Given the description of an element on the screen output the (x, y) to click on. 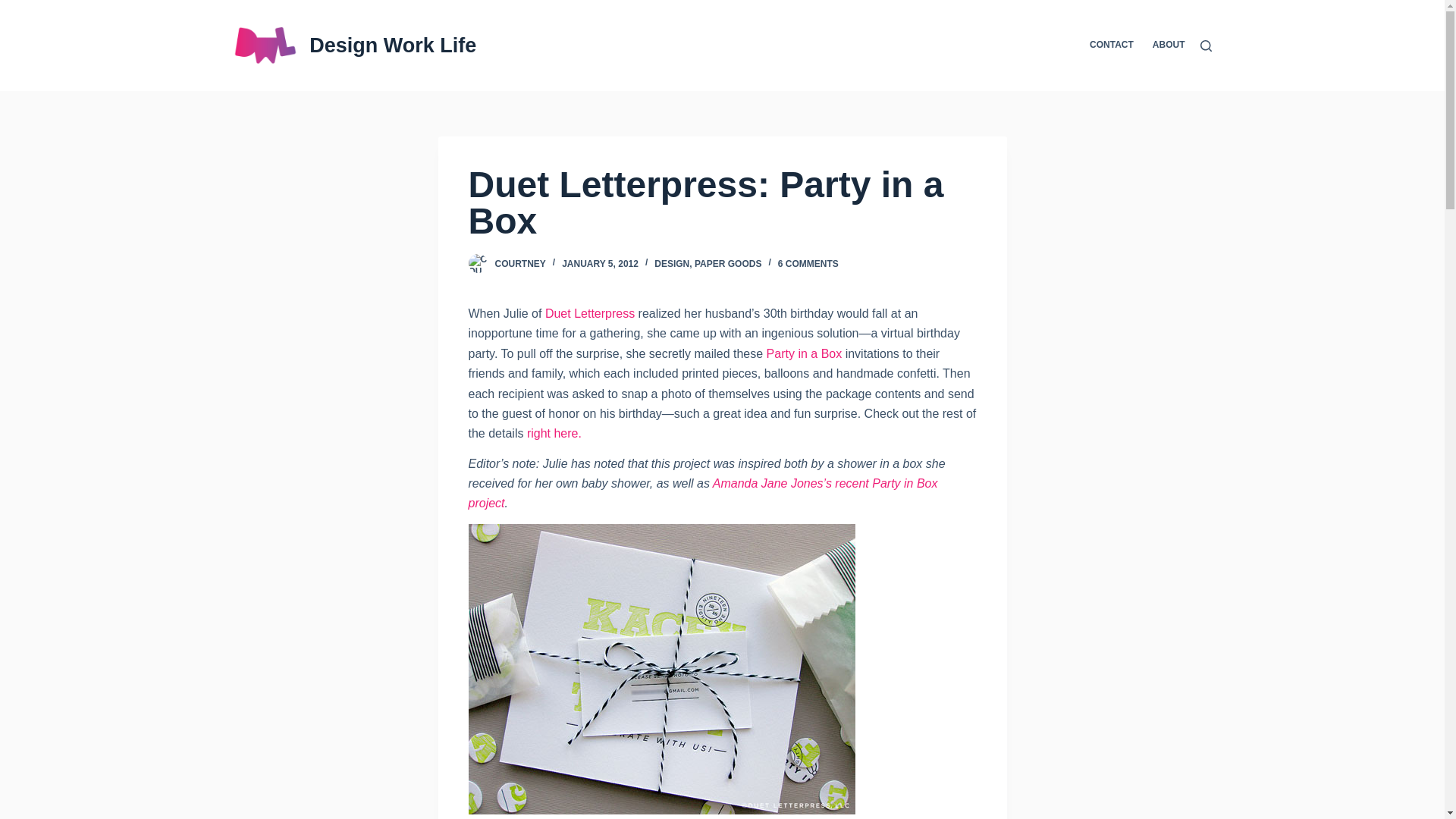
Duet Letterpress (589, 313)
Duet Letterpress: Party in a Box (722, 203)
COURTNEY (519, 263)
Design Work Life (392, 45)
Posts by Courtney (519, 263)
6 COMMENTS (807, 263)
DESIGN (670, 263)
Party in a Box (805, 353)
Skip to content (15, 7)
PAPER GOODS (727, 263)
